Given the description of an element on the screen output the (x, y) to click on. 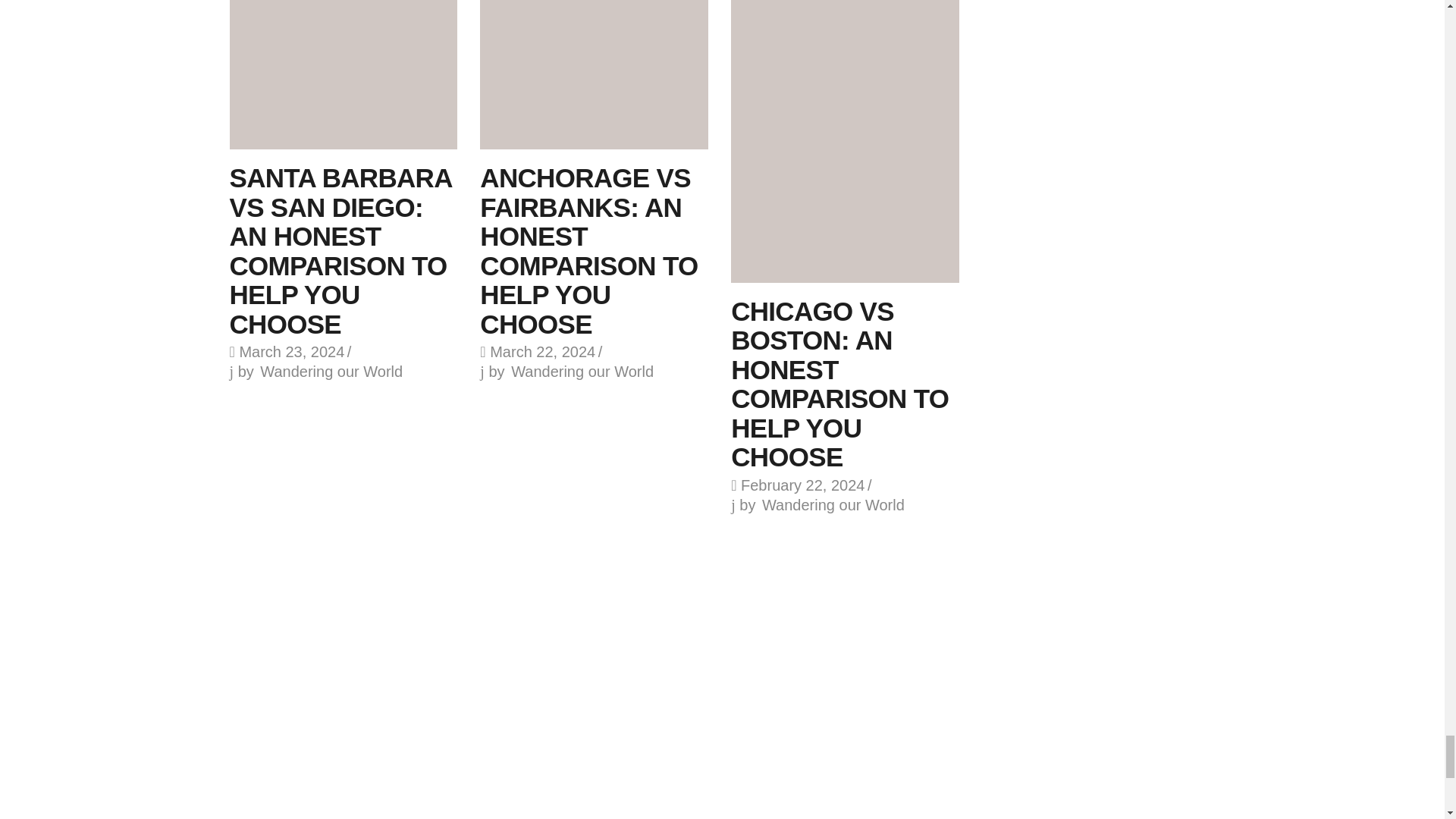
Chicago vs Boston: An Honest Comparison To Help You Choose (844, 141)
Chicago vs Boston: An Honest Comparison To Help You Choose (839, 384)
